Given the description of an element on the screen output the (x, y) to click on. 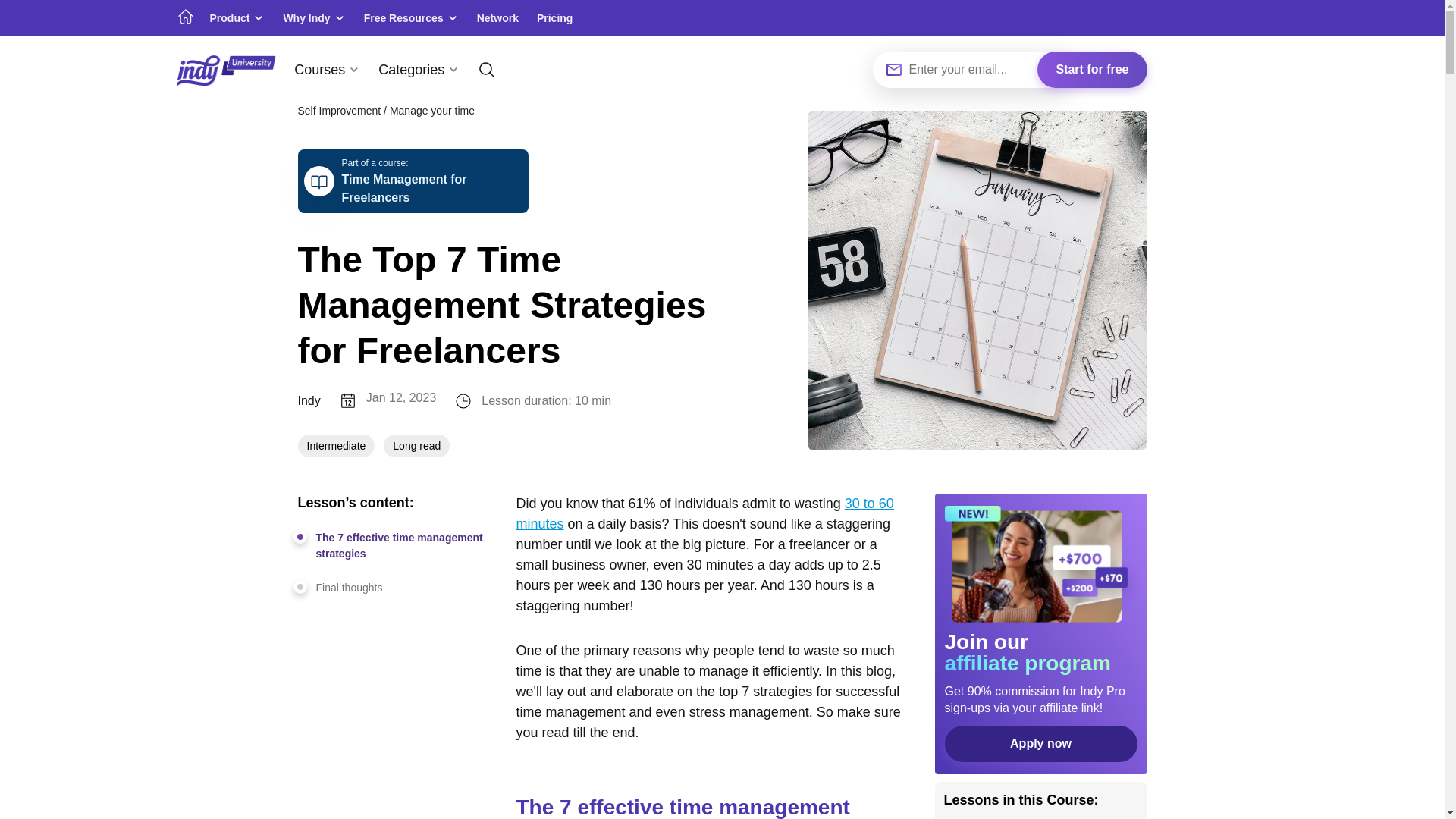
Manage your time (432, 110)
Indy (308, 401)
Pricing (553, 18)
Network (497, 18)
Start for free (1091, 69)
30 to 60 minutes (704, 513)
Intermediate (335, 445)
Long read (416, 445)
Apply now (412, 180)
